Given the description of an element on the screen output the (x, y) to click on. 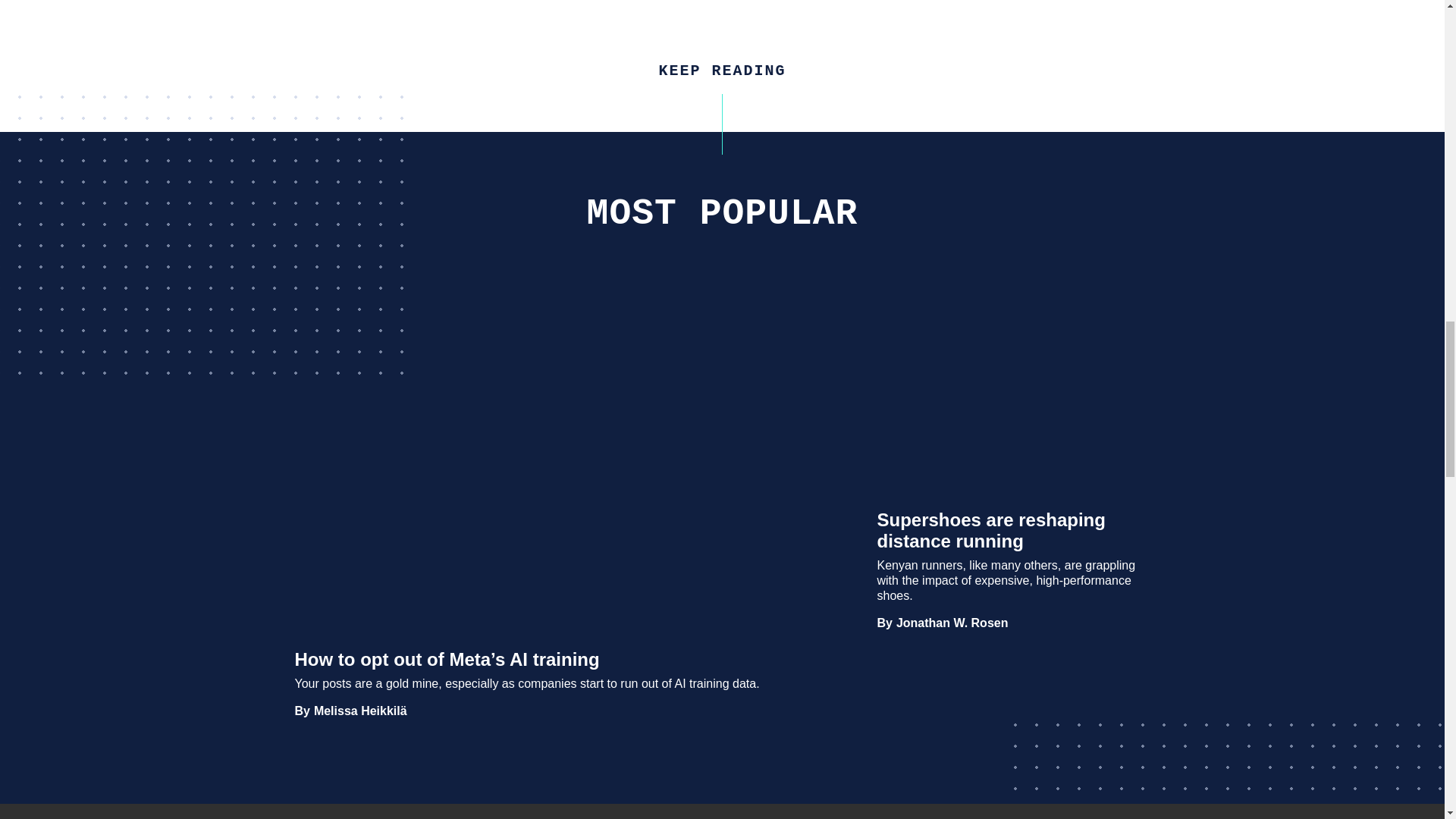
Why does AI hallucinate? (467, 801)
Supershoes are reshaping distance running (952, 622)
